Given the description of an element on the screen output the (x, y) to click on. 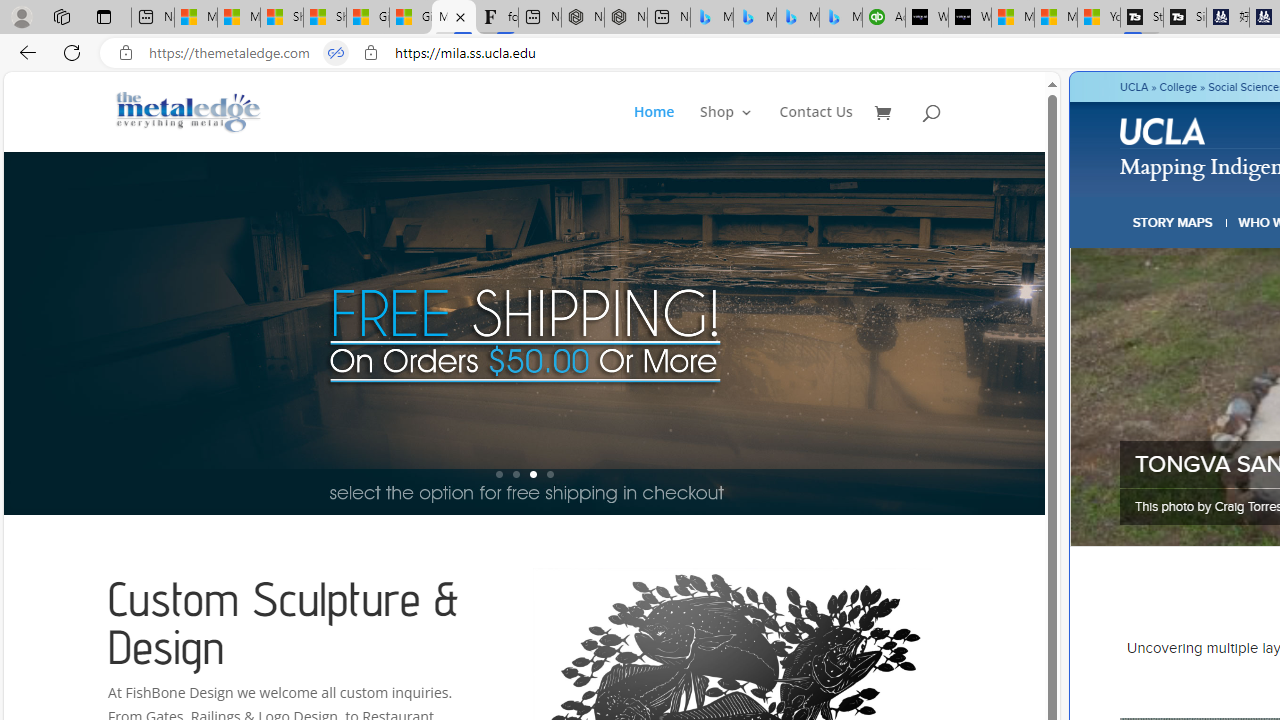
UCLA logo (1162, 130)
Back (24, 52)
3 (532, 474)
Nordace - #1 Japanese Best-Seller - Siena Smart Backpack (625, 17)
Home (665, 128)
Shop3 (737, 128)
Shop 3 (726, 128)
Shanghai, China weather forecast | Microsoft Weather (324, 17)
Contact Us (815, 128)
Microsoft Start (1055, 17)
STORY MAPS (1173, 222)
